Given the description of an element on the screen output the (x, y) to click on. 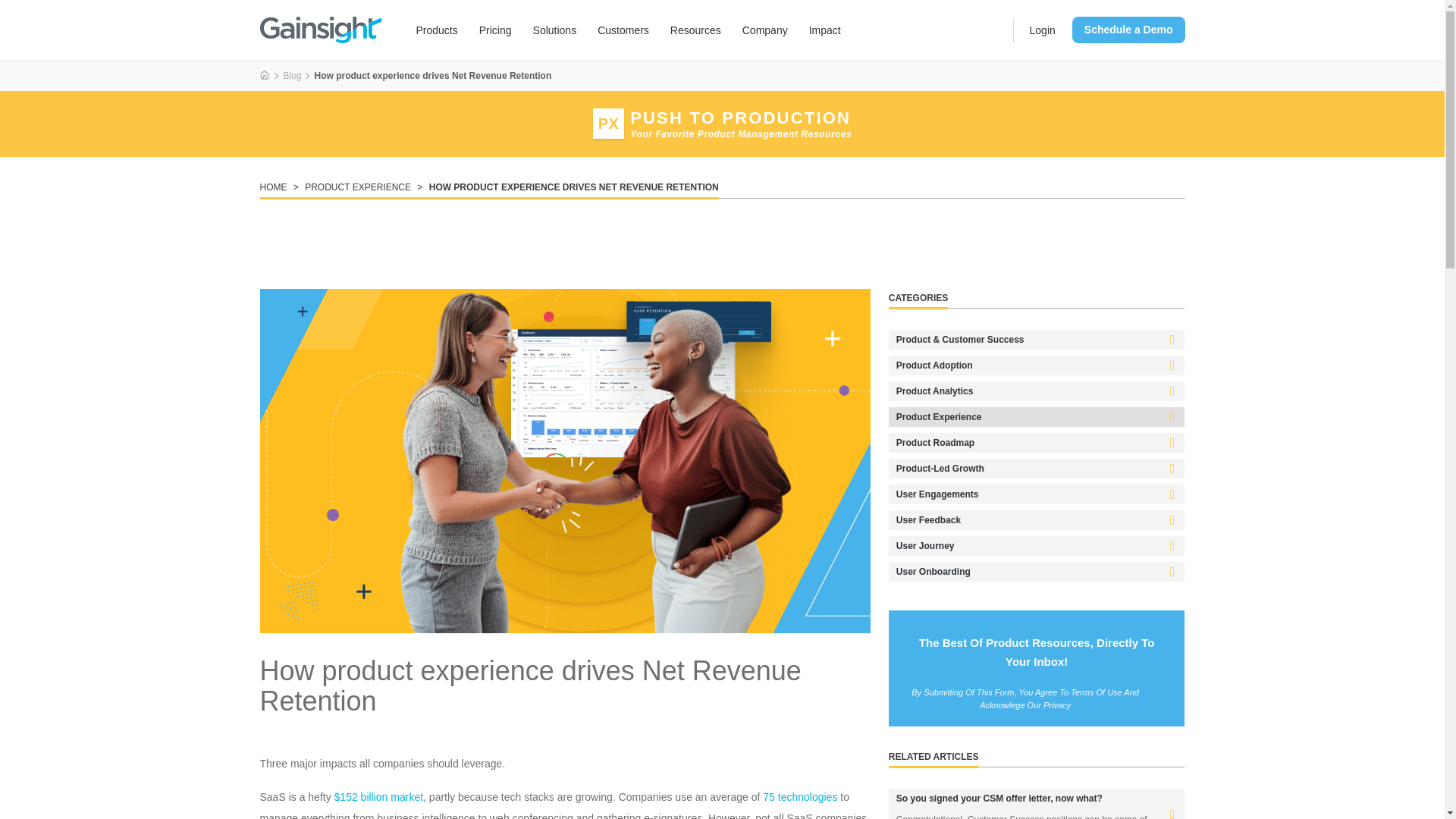
Products (435, 30)
Customers (622, 30)
Resources (695, 30)
Solutions (555, 30)
